Given the description of an element on the screen output the (x, y) to click on. 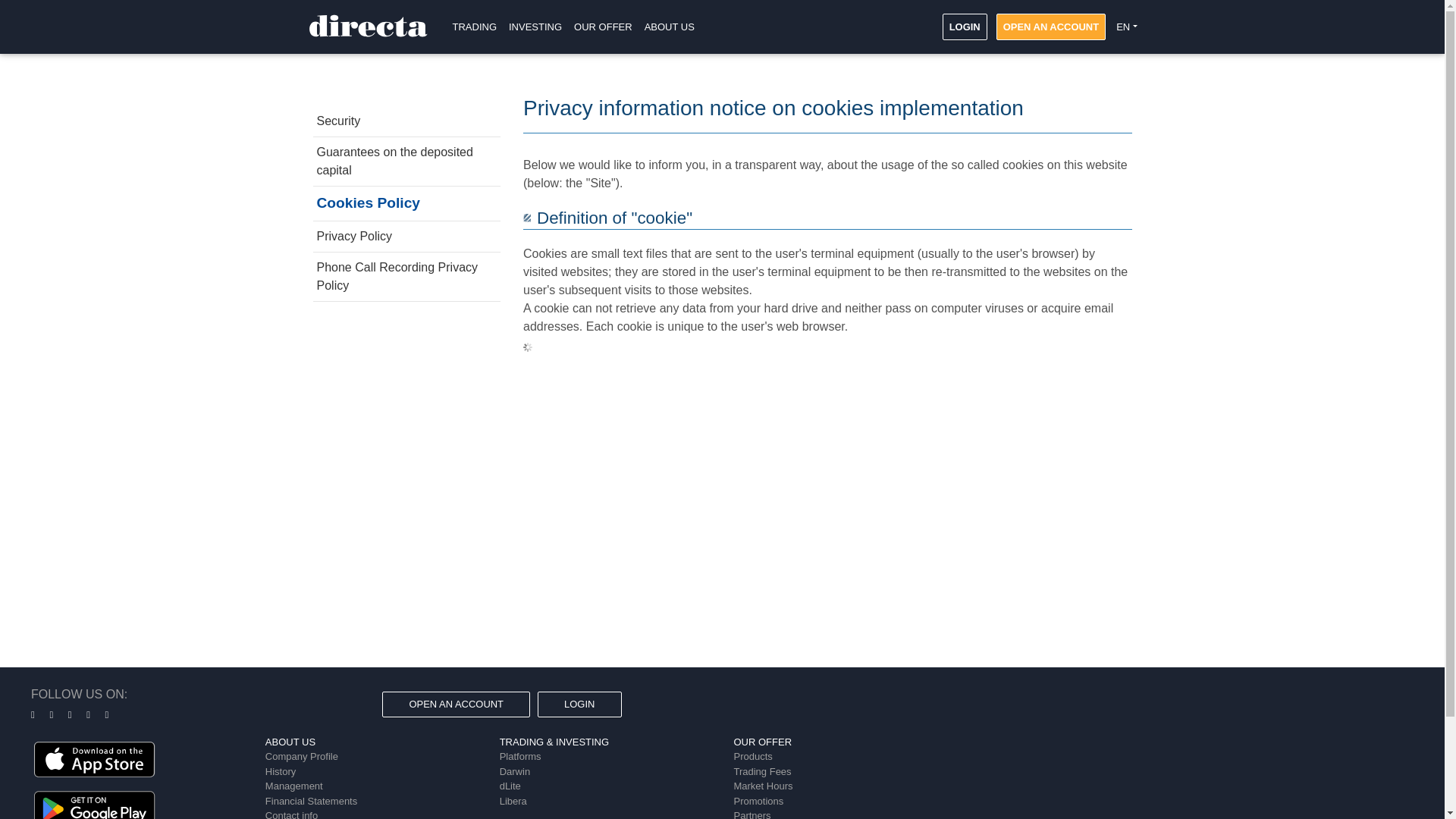
OPEN AN ACCOUNT (1050, 26)
Darwin (514, 771)
LOGIN (964, 26)
OPEN AN ACCOUNT (455, 704)
TRADING (473, 26)
Contact info (290, 814)
Security (406, 121)
INVESTING (534, 26)
Guarantees on the deposited capital (406, 161)
Libera (513, 800)
OPEN AN ACCOUNT (1050, 26)
dLite (510, 785)
Financial Statements (310, 800)
ABOUT US (669, 26)
Privacy Policy (406, 236)
